Given the description of an element on the screen output the (x, y) to click on. 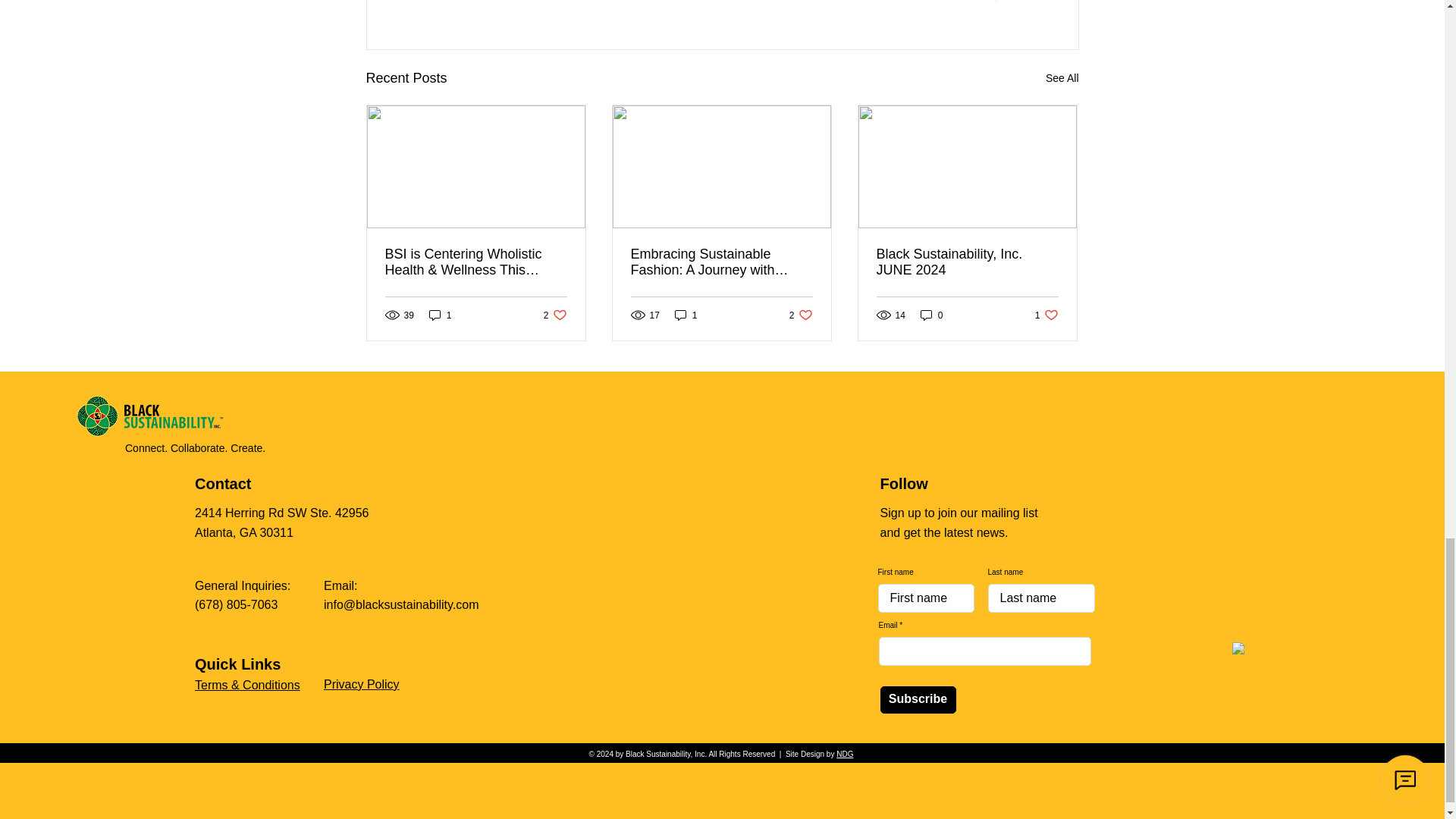
Post not marked as liked (995, 2)
BSI Candid Seal (1312, 708)
See All (1061, 78)
